Given the description of an element on the screen output the (x, y) to click on. 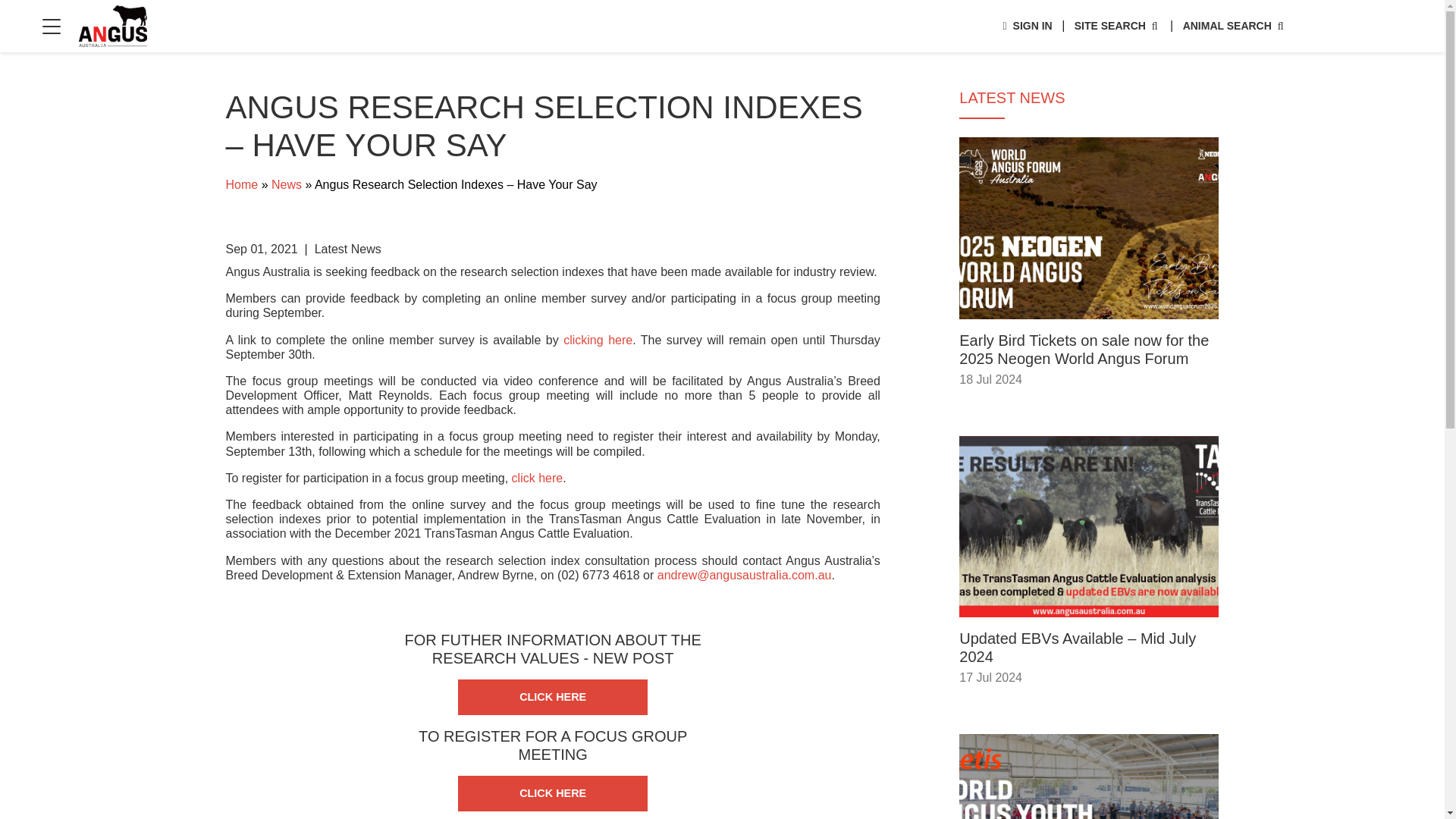
Search (1117, 26)
Search (1234, 26)
Search (1026, 26)
